Given the description of an element on the screen output the (x, y) to click on. 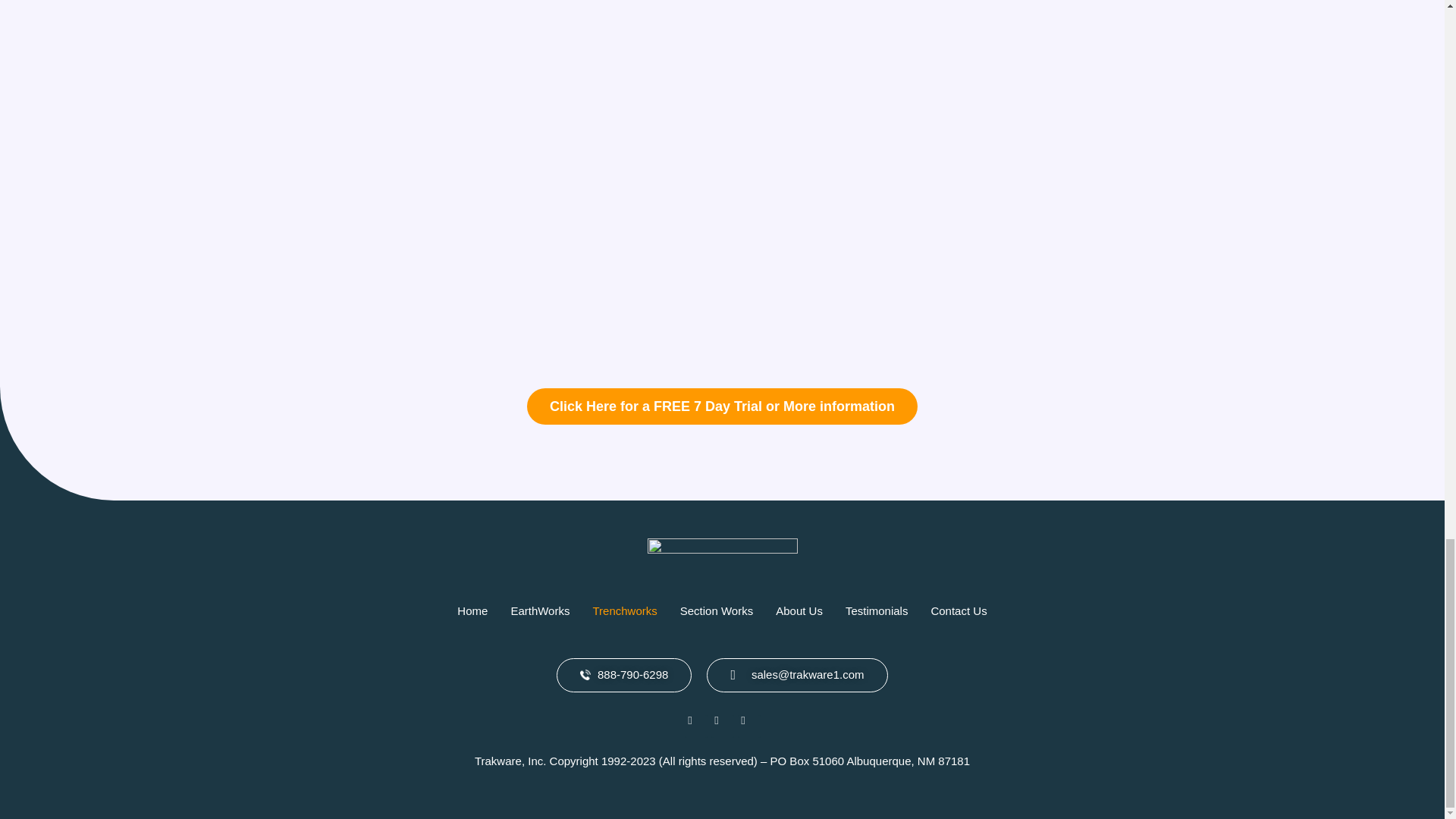
Contact Us (957, 610)
Trenchworks (624, 610)
Click Here for a FREE 7 Day Trial or More information (722, 406)
Home (472, 610)
Testimonials (877, 610)
888-790-6298 (623, 674)
Section Works (716, 610)
EarthWorks (539, 610)
About Us (799, 610)
